Given the description of an element on the screen output the (x, y) to click on. 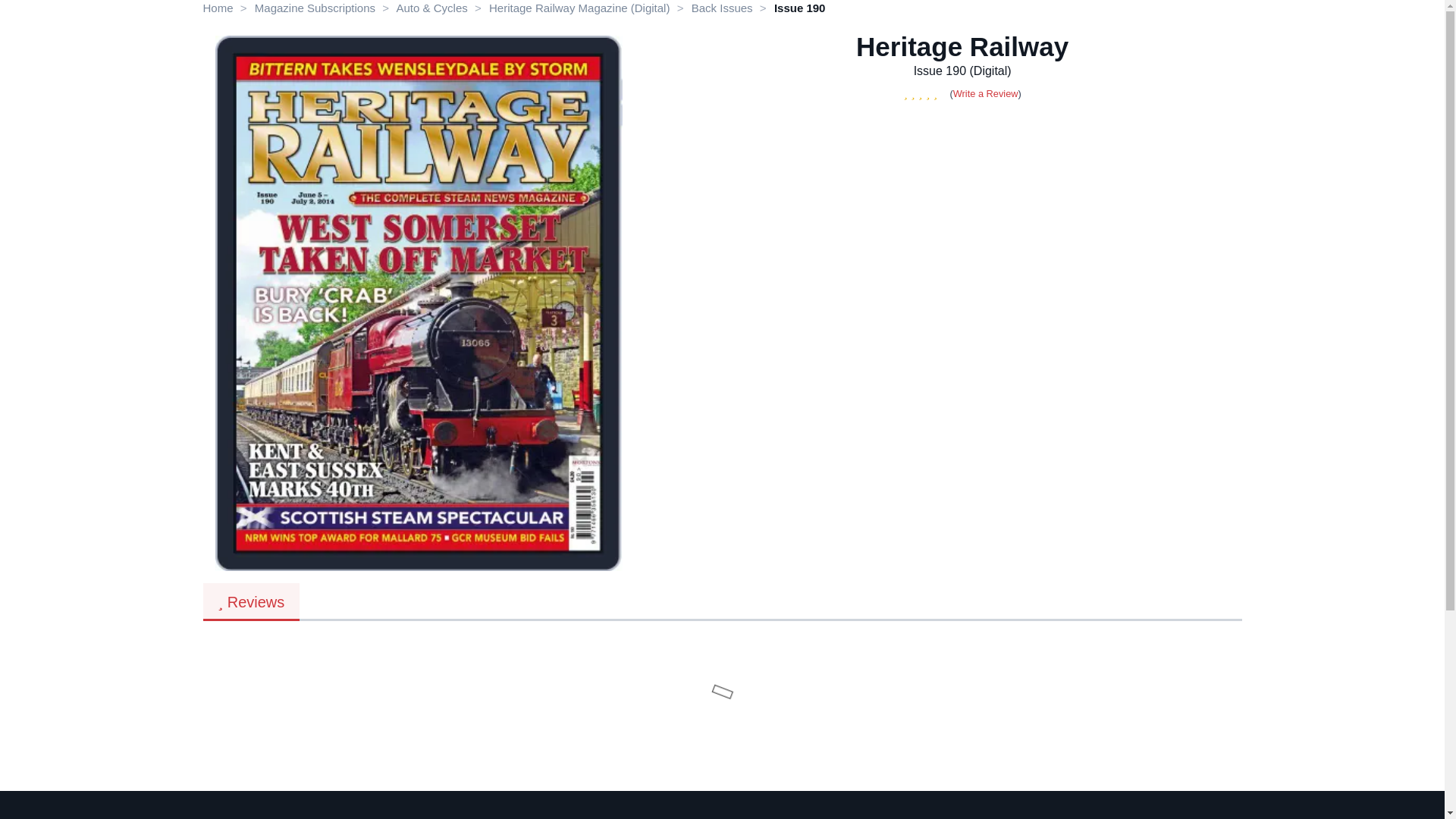
Home (217, 7)
Reviews (251, 601)
Magazine Subscriptions (314, 7)
Write a Review (985, 93)
Back Issues (721, 7)
